Given the description of an element on the screen output the (x, y) to click on. 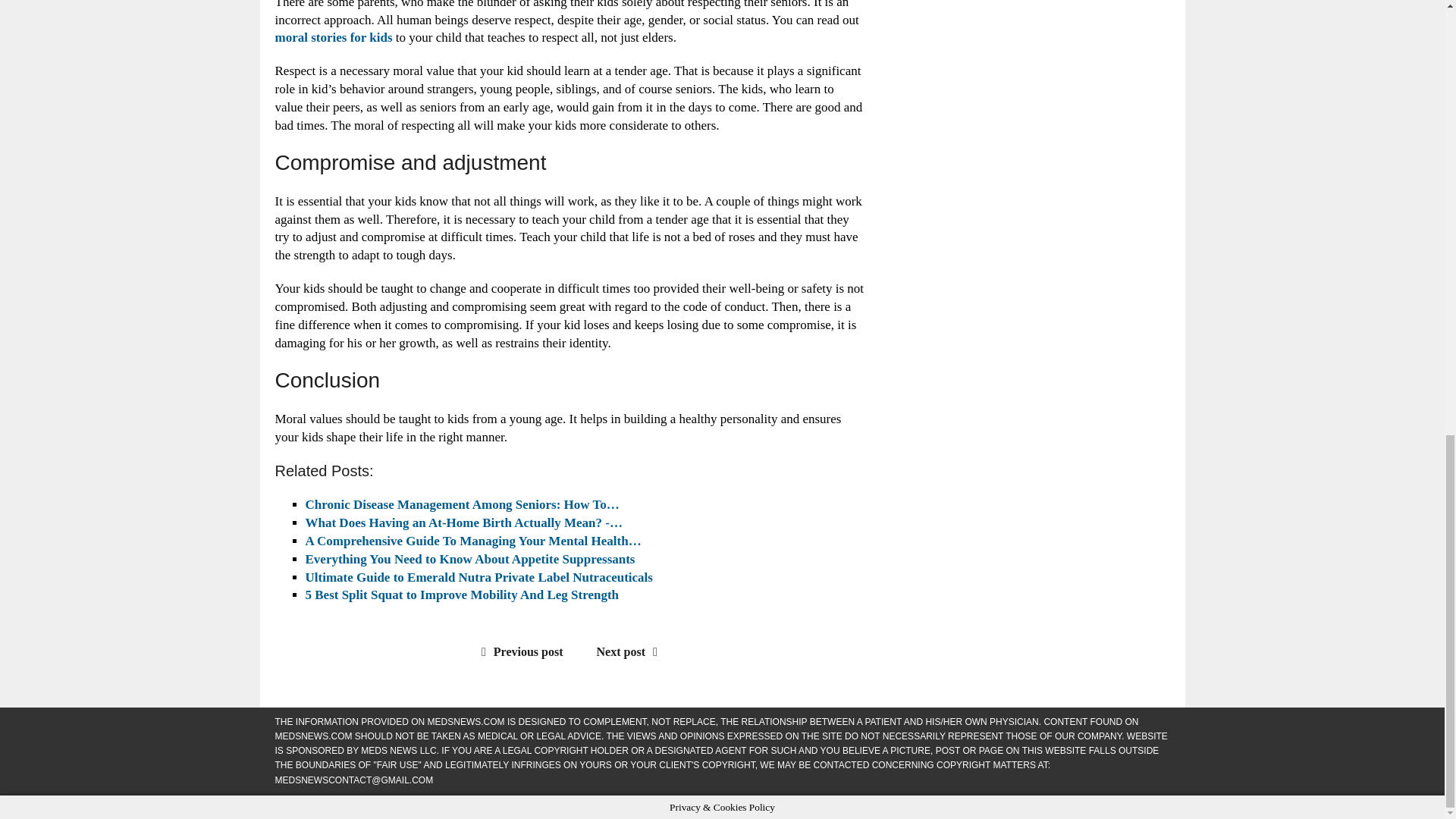
Previous post (518, 651)
Next post (630, 651)
moral stories for kids (333, 37)
5 Best Split Squat to Improve Mobility And Leg Strength (461, 594)
Everything You Need to Know About Appetite Suppressants (469, 559)
Ultimate Guide to Emerald Nutra Private Label Nutraceuticals (478, 577)
